Given the description of an element on the screen output the (x, y) to click on. 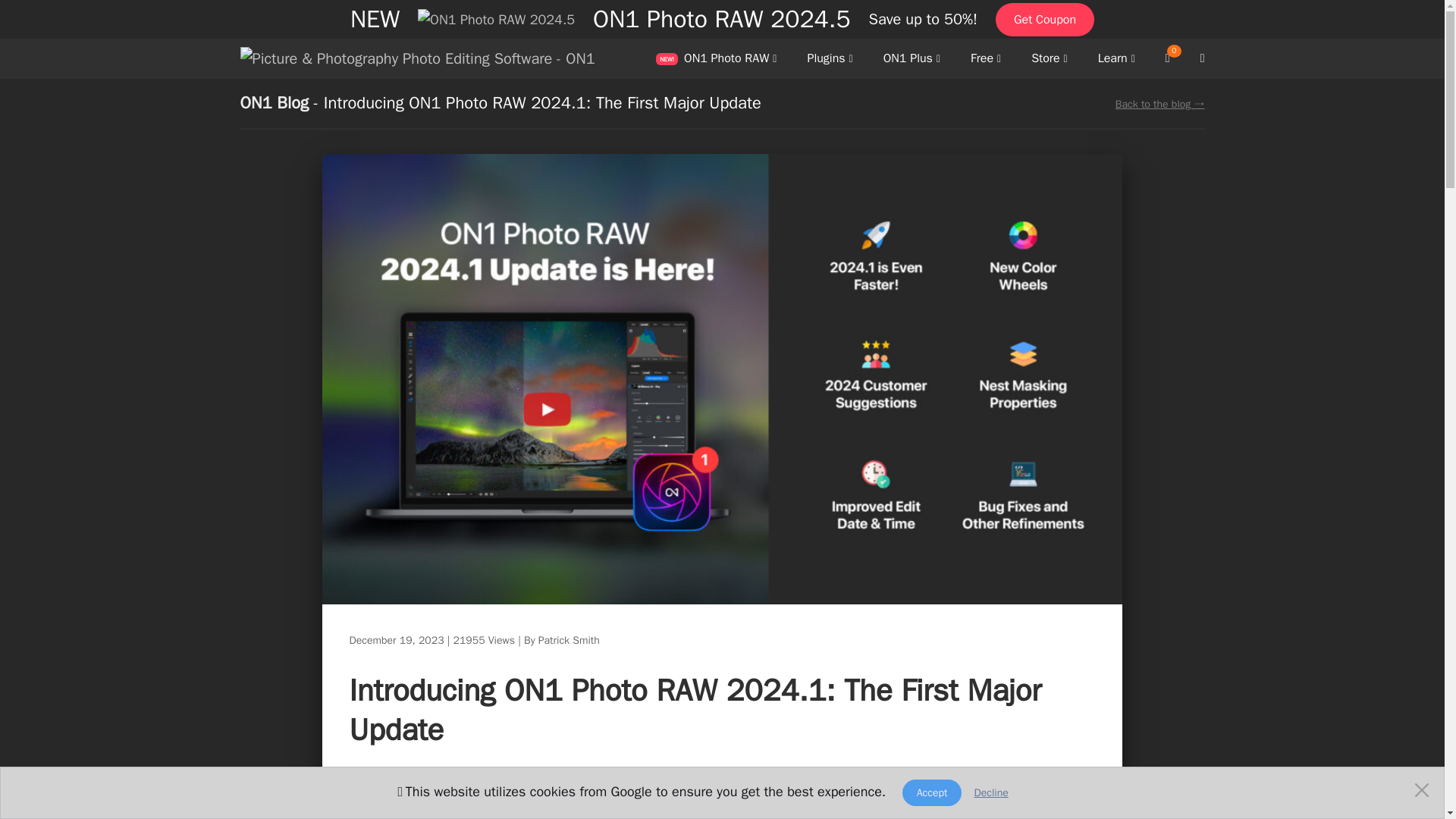
Get Coupon (1044, 19)
Free (985, 59)
NEW!ON1 Photo RAW (716, 59)
ON1 Photo Editing Plugins (829, 59)
Plugins (829, 59)
ON1 Plus Membership (911, 59)
ON1 Plus (911, 59)
ON1 Photo Raw Editing Software (716, 59)
